Given the description of an element on the screen output the (x, y) to click on. 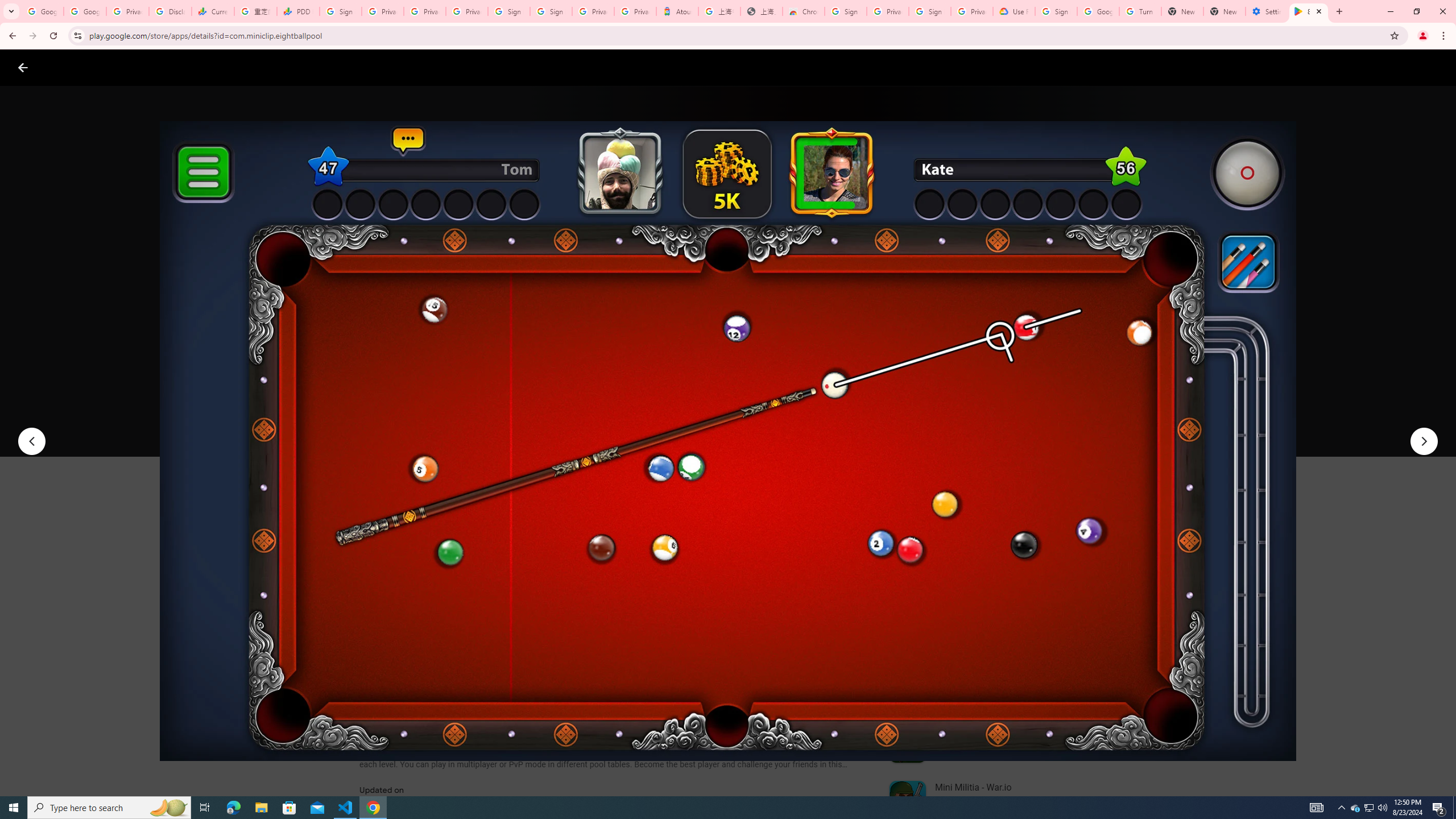
Content rating (553, 373)
Next (1424, 441)
8 Ball Pool - Apps on Google Play (1308, 11)
Previous (31, 441)
Sign in - Google Accounts (930, 11)
Help Center (1409, 67)
Google Play logo (64, 67)
